Given the description of an element on the screen output the (x, y) to click on. 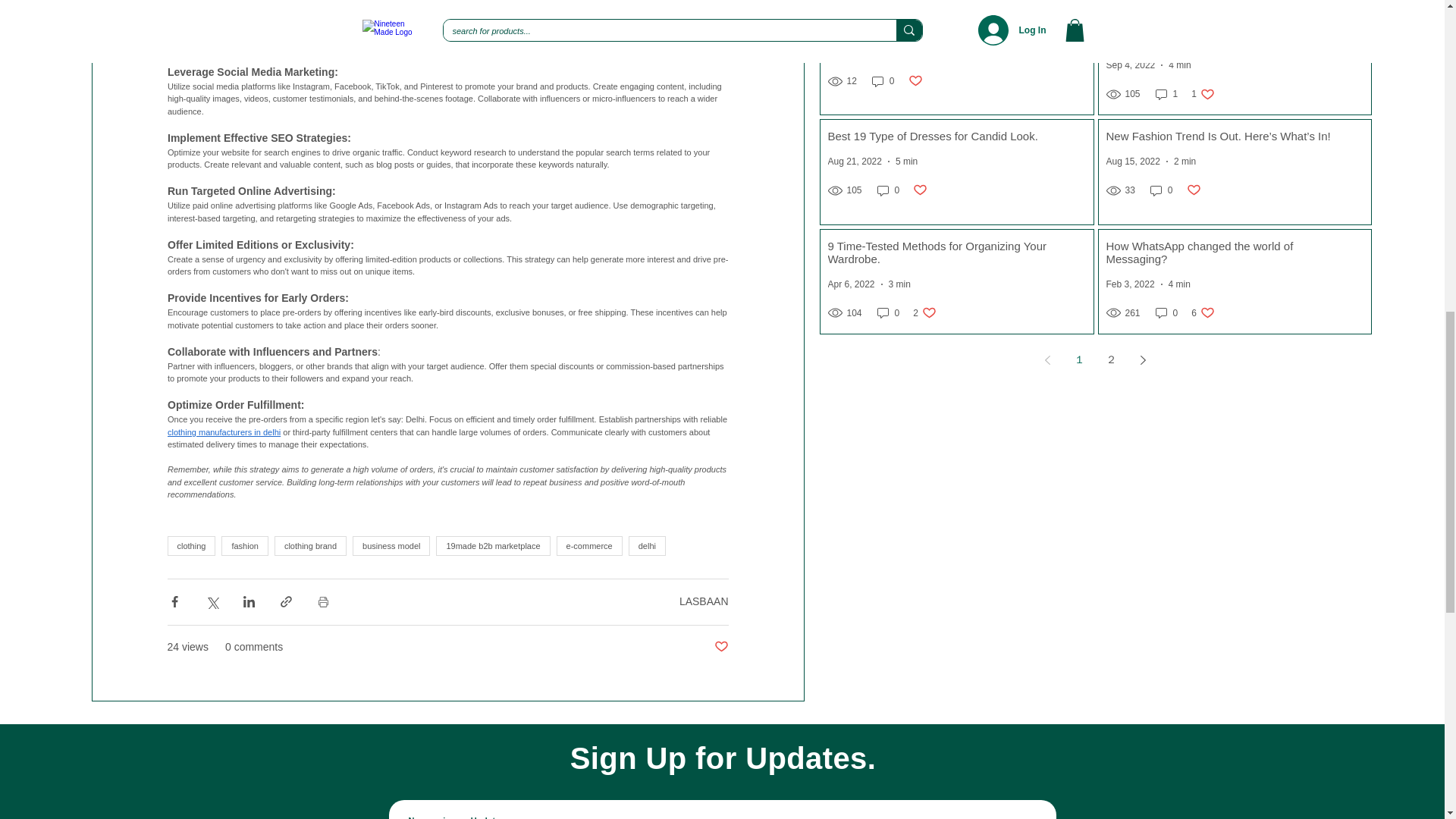
delhi (646, 546)
clothing manufacturers in delhi (223, 431)
fashion (244, 546)
Post not marked as liked (721, 647)
clothing brand (310, 546)
19made b2b marketplace (492, 546)
LASBAAN (704, 601)
clothing (191, 546)
business model (390, 546)
e-commerce (589, 546)
